Given the description of an element on the screen output the (x, y) to click on. 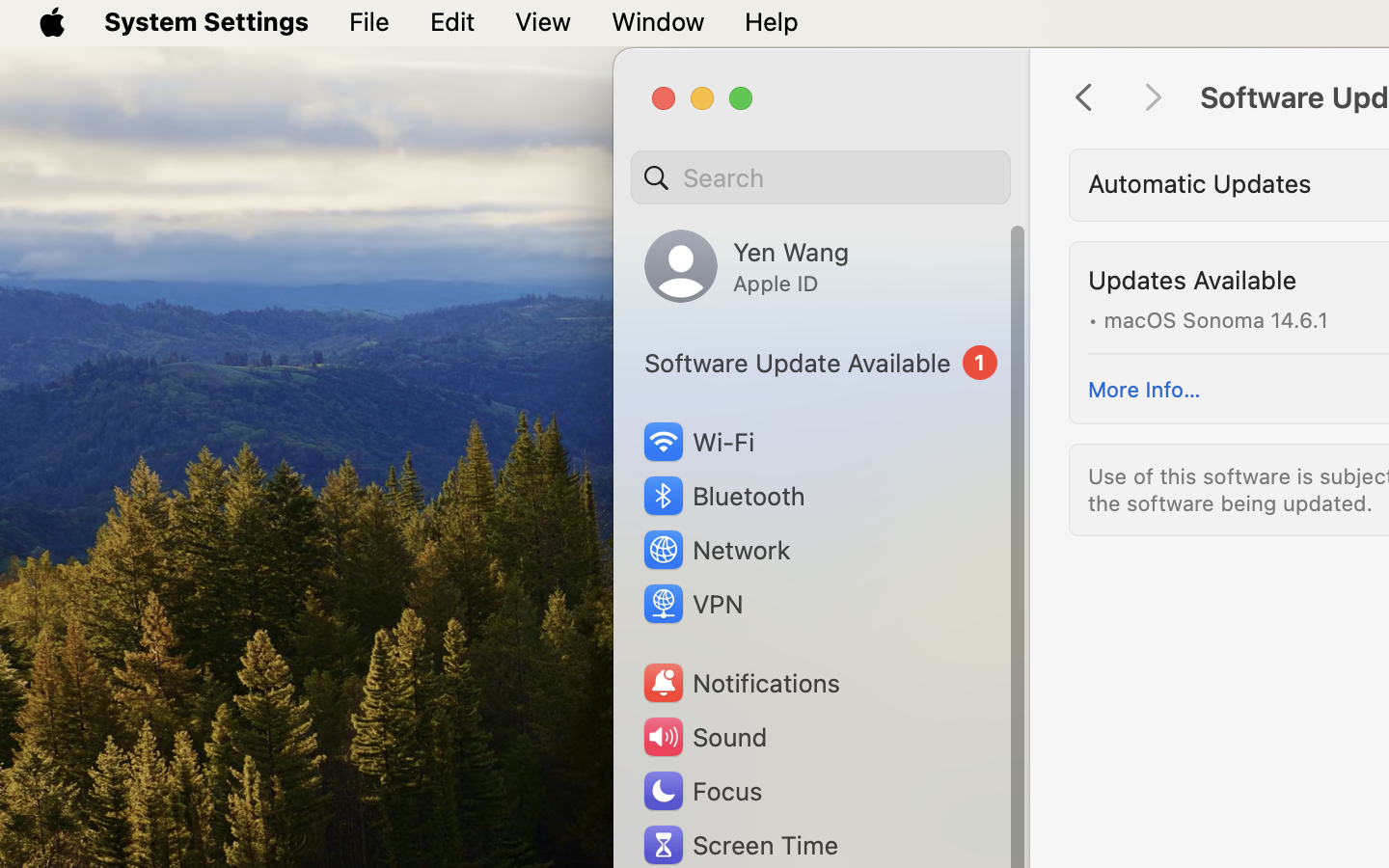
Focus Element type: AXStaticText (701, 790)
Wi‑Fi Element type: AXStaticText (697, 441)
Updates Available Element type: AXStaticText (1192, 279)
Sound Element type: AXStaticText (703, 736)
• macOS Sonoma 14.6.1 Element type: AXStaticText (1207, 317)
